Given the description of an element on the screen output the (x, y) to click on. 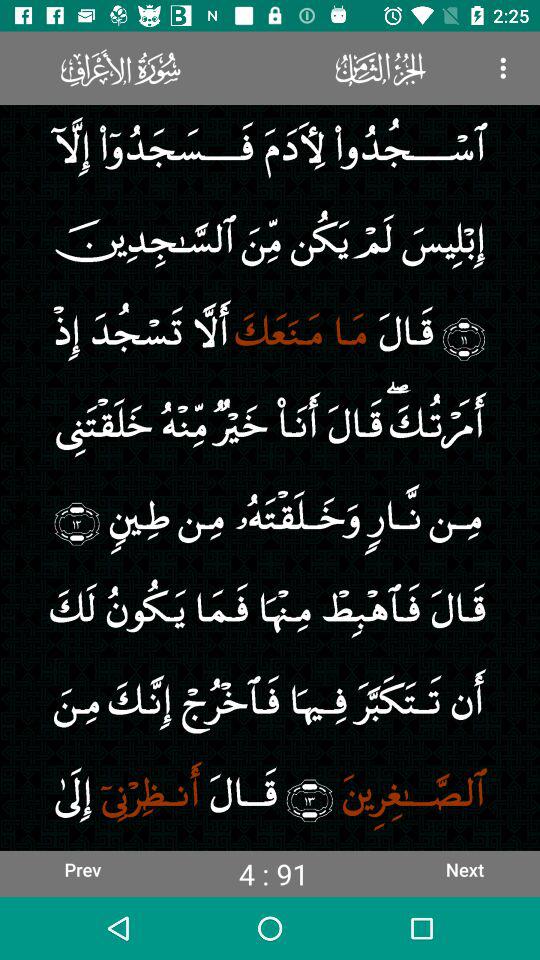
turn on the icon at the bottom right corner (464, 869)
